Given the description of an element on the screen output the (x, y) to click on. 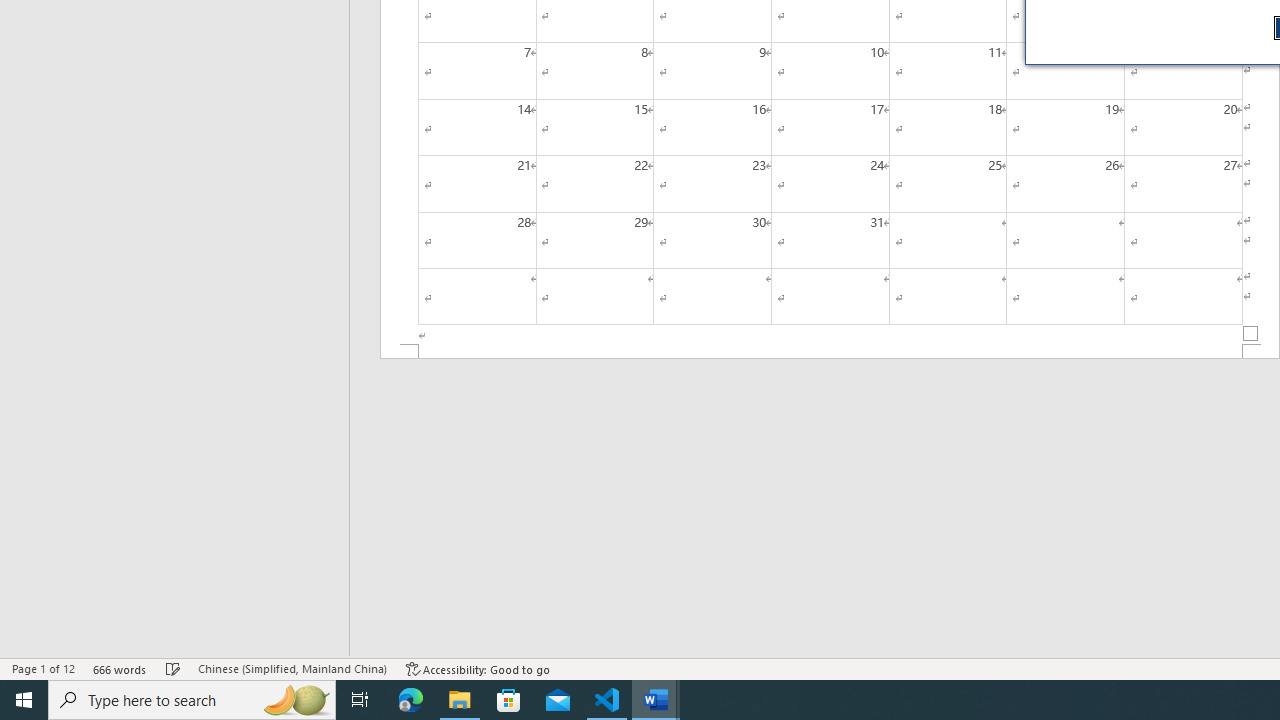
Language Chinese (Simplified, Mainland China) (292, 668)
Word - 2 running windows (656, 699)
Page Number Page 1 of 12 (43, 668)
Start (24, 699)
Visual Studio Code - 1 running window (607, 699)
Microsoft Store (509, 699)
Microsoft Edge (411, 699)
Type here to search (191, 699)
File Explorer - 1 running window (460, 699)
Word Count 666 words (119, 668)
Spelling and Grammar Check Checking (173, 668)
Footer -Section 1- (830, 351)
Task View (359, 699)
